Given the description of an element on the screen output the (x, y) to click on. 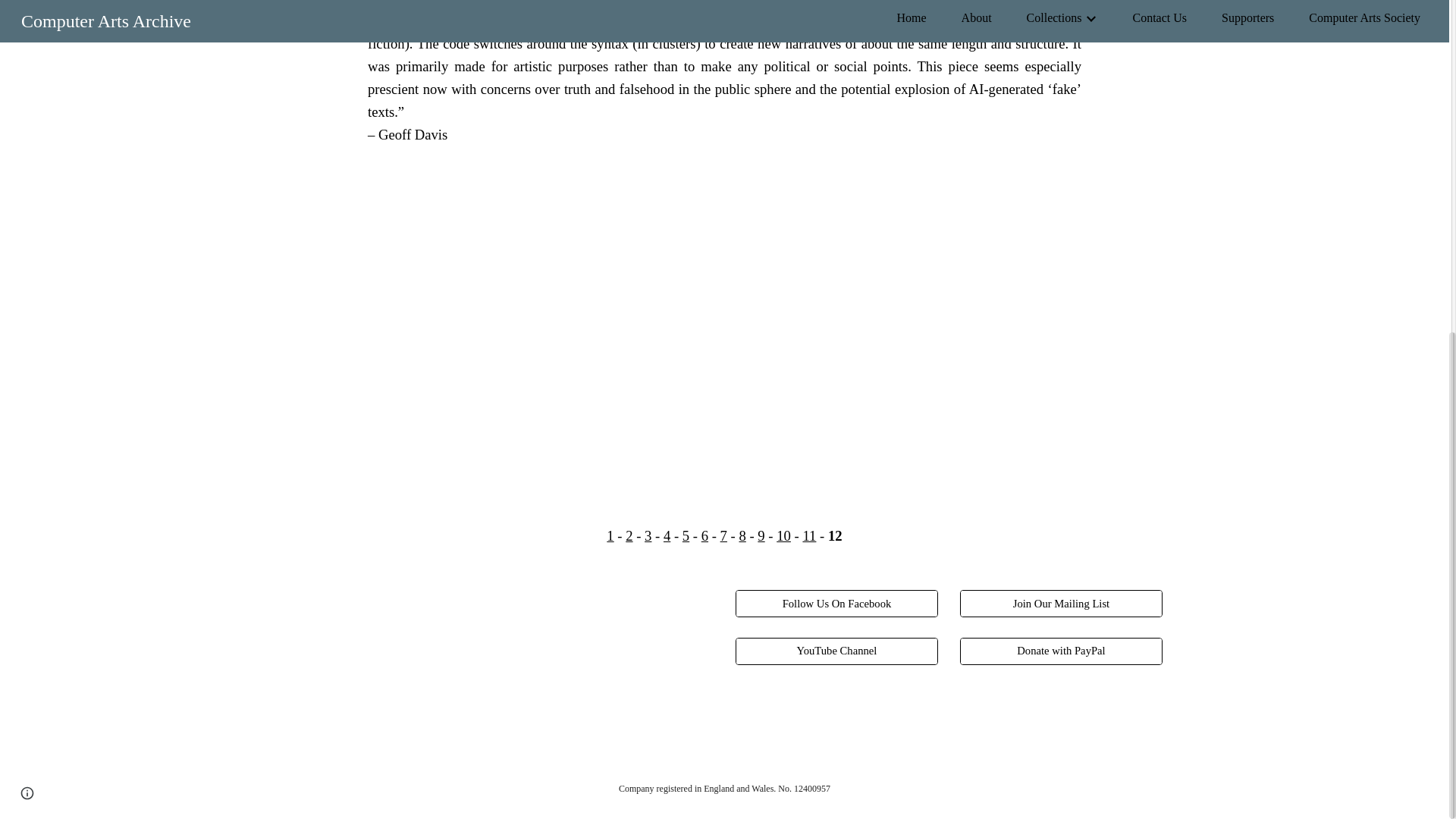
2 (628, 535)
5 (685, 535)
1 (609, 535)
3 (647, 535)
4 (666, 535)
7 (723, 535)
6 (704, 535)
